Given the description of an element on the screen output the (x, y) to click on. 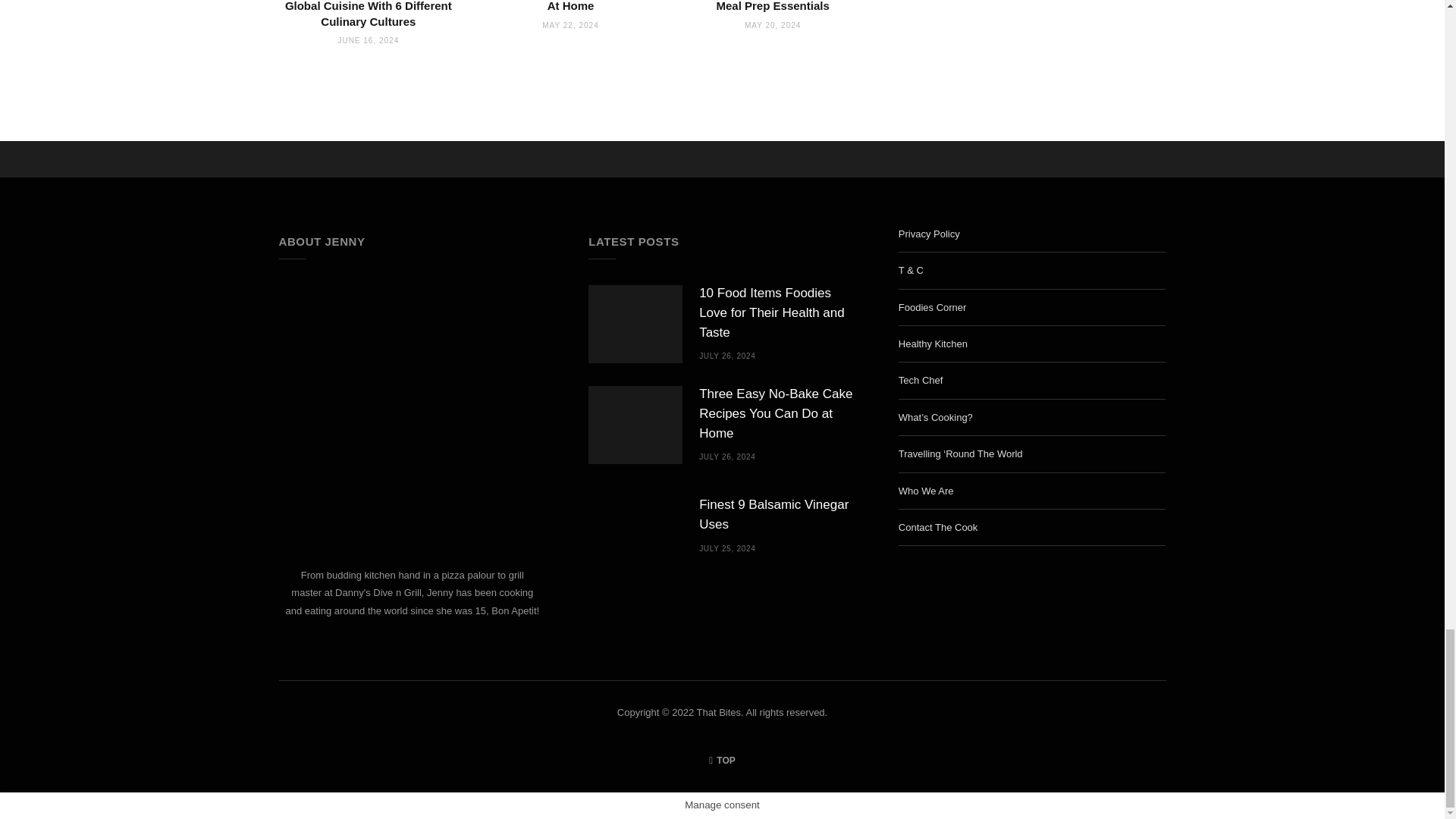
How To Make Iced Matcha Latte At Home (570, 6)
JUNE 16, 2024 (367, 40)
MAY 22, 2024 (569, 25)
Kit Out Your Kitchen With These Meal Prep Essentials (772, 6)
